Given the description of an element on the screen output the (x, y) to click on. 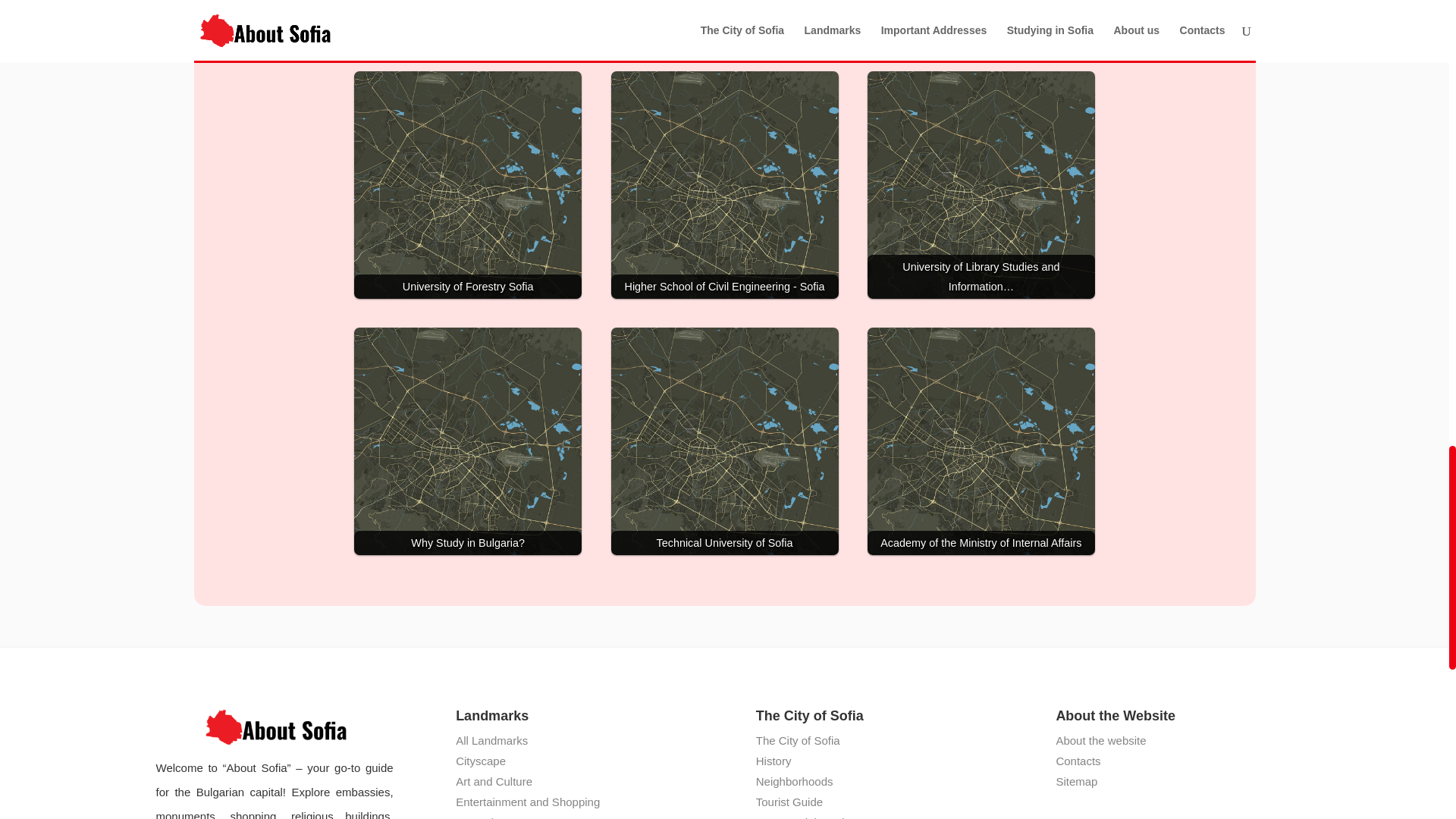
Academy of the Ministry of Internal Affairs (980, 441)
Art and Culture (493, 780)
Why Study in Bulgaria? (466, 441)
All Landmarks (491, 739)
Why Study in Bulgaria? (466, 441)
University of Forestry Sofia (466, 184)
Higher School of Civil Engineering - Sofia (724, 184)
Academy of the Ministry of Internal Affairs (980, 441)
Technical University of Sofia (724, 441)
University of Forestry Sofia (466, 184)
